Given the description of an element on the screen output the (x, y) to click on. 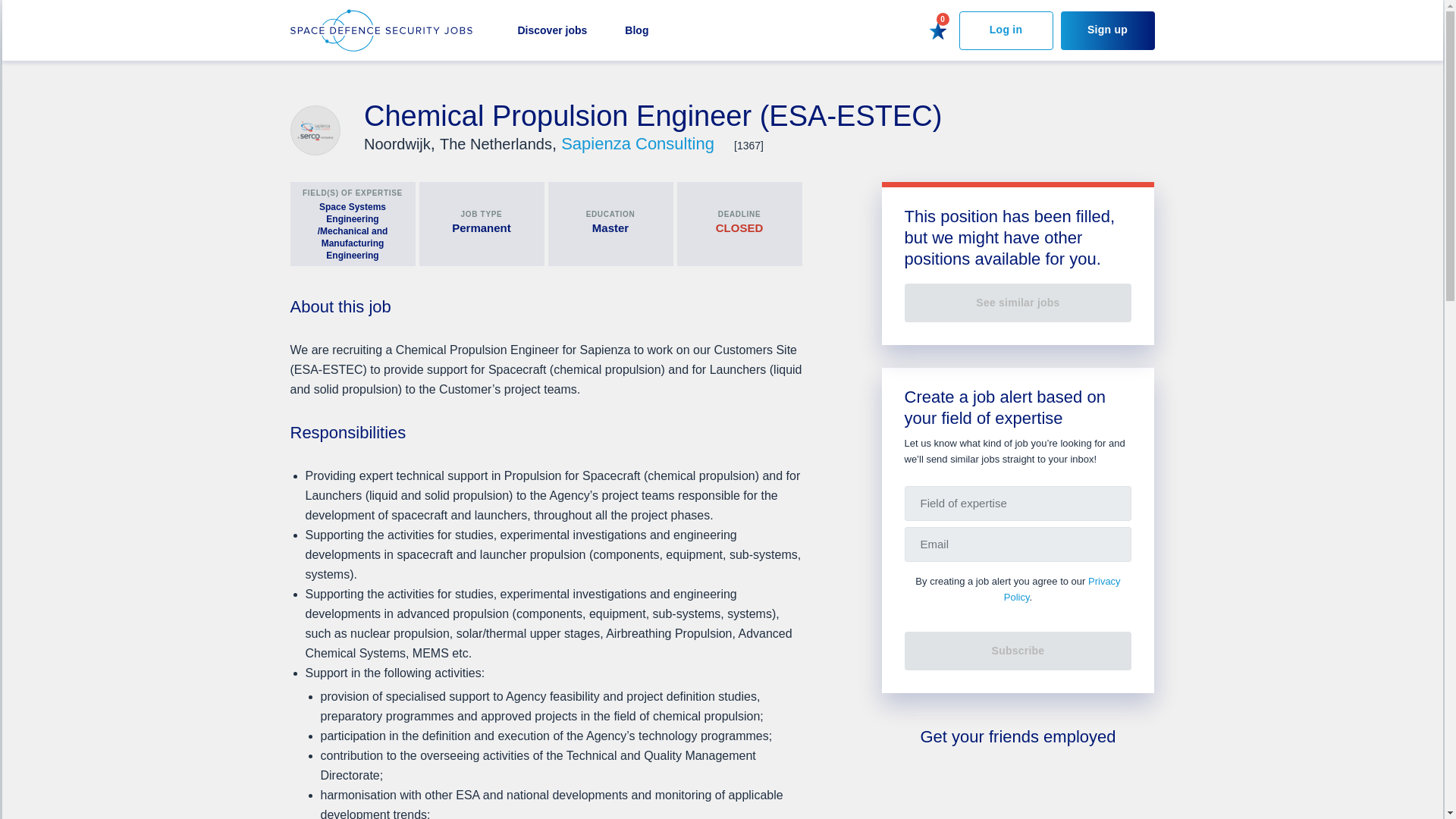
Sign up (1106, 29)
Discover jobs (551, 30)
Subscribe (1017, 650)
Log in (1005, 29)
Sapienza Consulting (639, 143)
Privacy Policy (1062, 588)
See similar jobs (1017, 302)
